Given the description of an element on the screen output the (x, y) to click on. 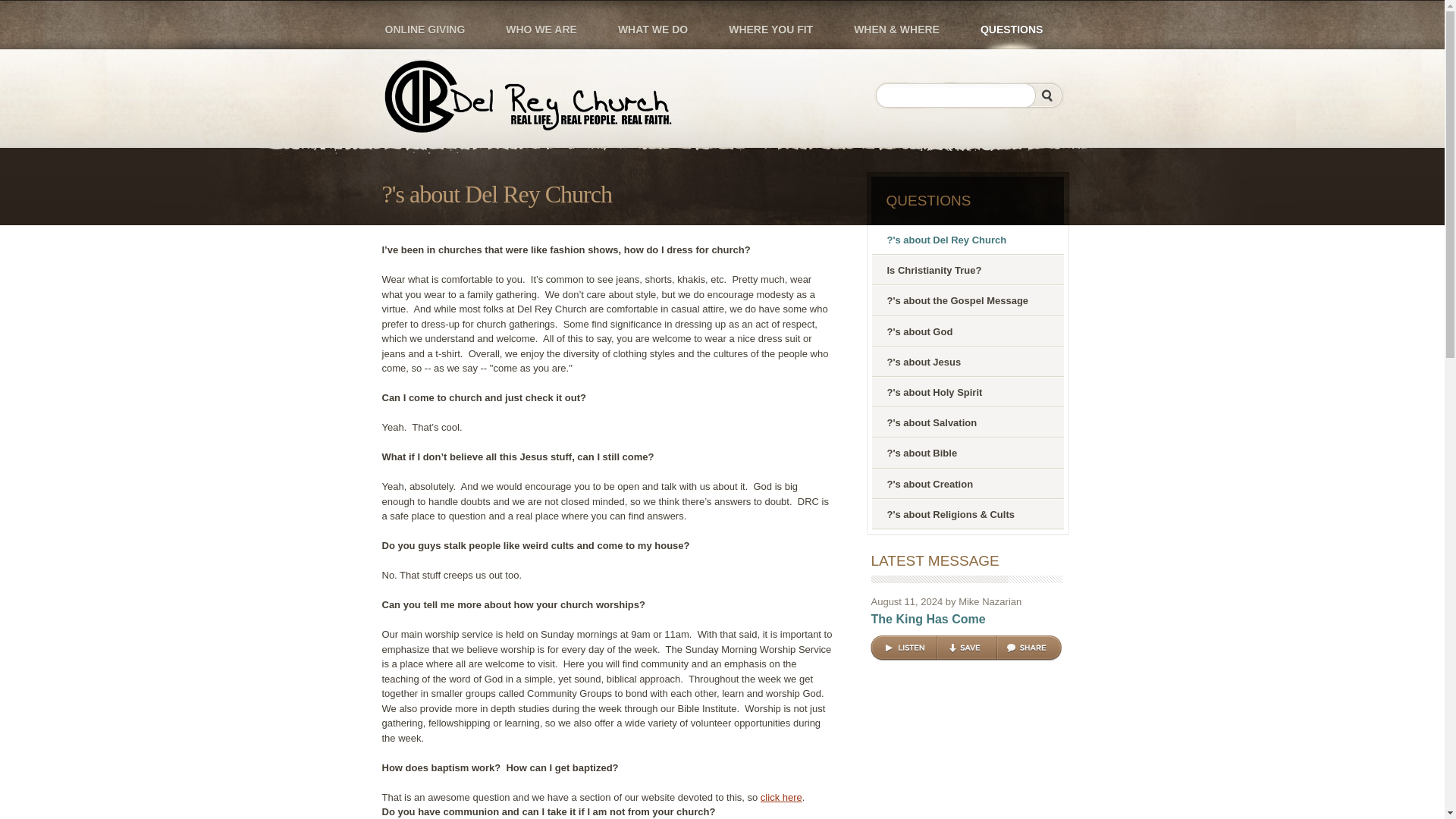
WHAT WE DO (651, 24)
ONLINE GIVING (424, 24)
WHO WE ARE (540, 24)
